Given the description of an element on the screen output the (x, y) to click on. 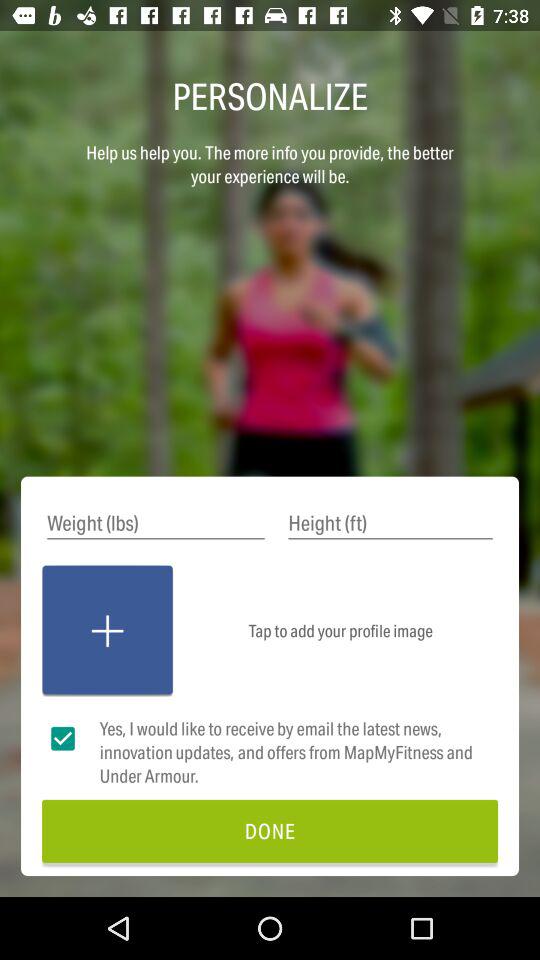
click the weightlbs (156, 524)
click the height field (389, 524)
select  icon below weightslbs (107, 631)
select the check box (63, 739)
